Given the description of an element on the screen output the (x, y) to click on. 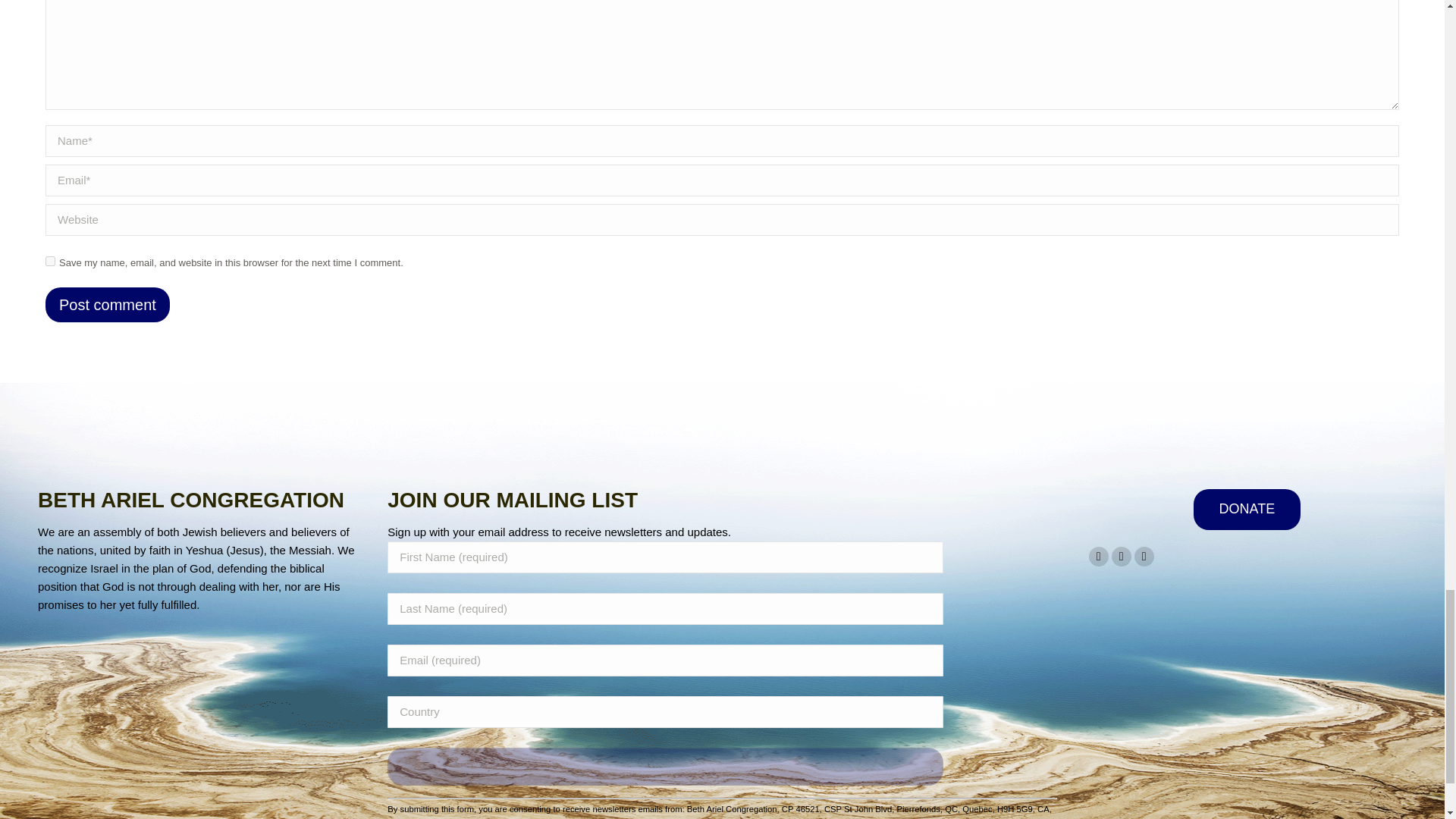
YouTube page opens in new window (1121, 556)
yes (50, 261)
Instagram page opens in new window (1144, 556)
Subscribe (665, 766)
Facebook page opens in new window (1098, 556)
